Given the description of an element on the screen output the (x, y) to click on. 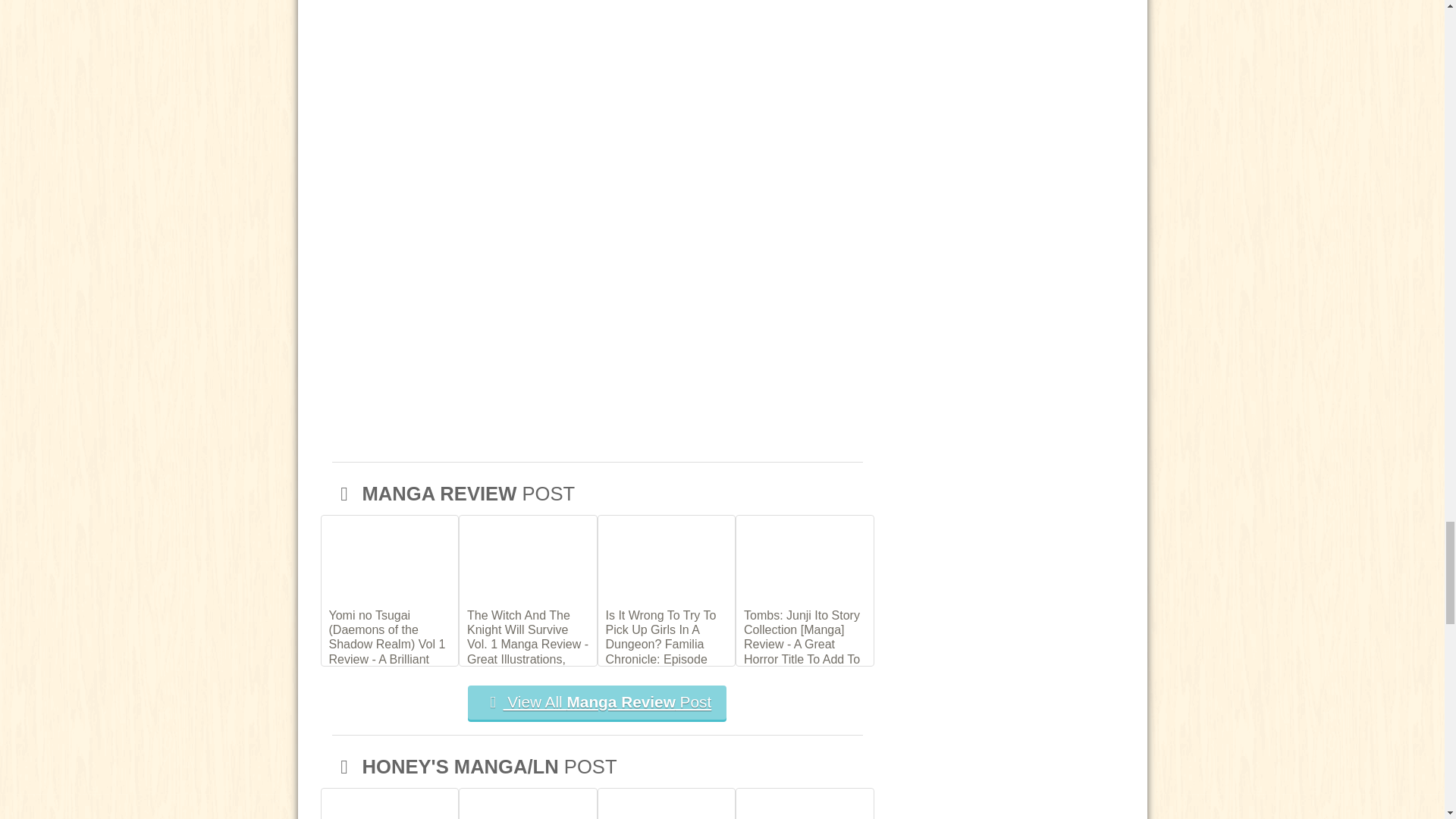
View All Manga Review Post (596, 702)
